Given the description of an element on the screen output the (x, y) to click on. 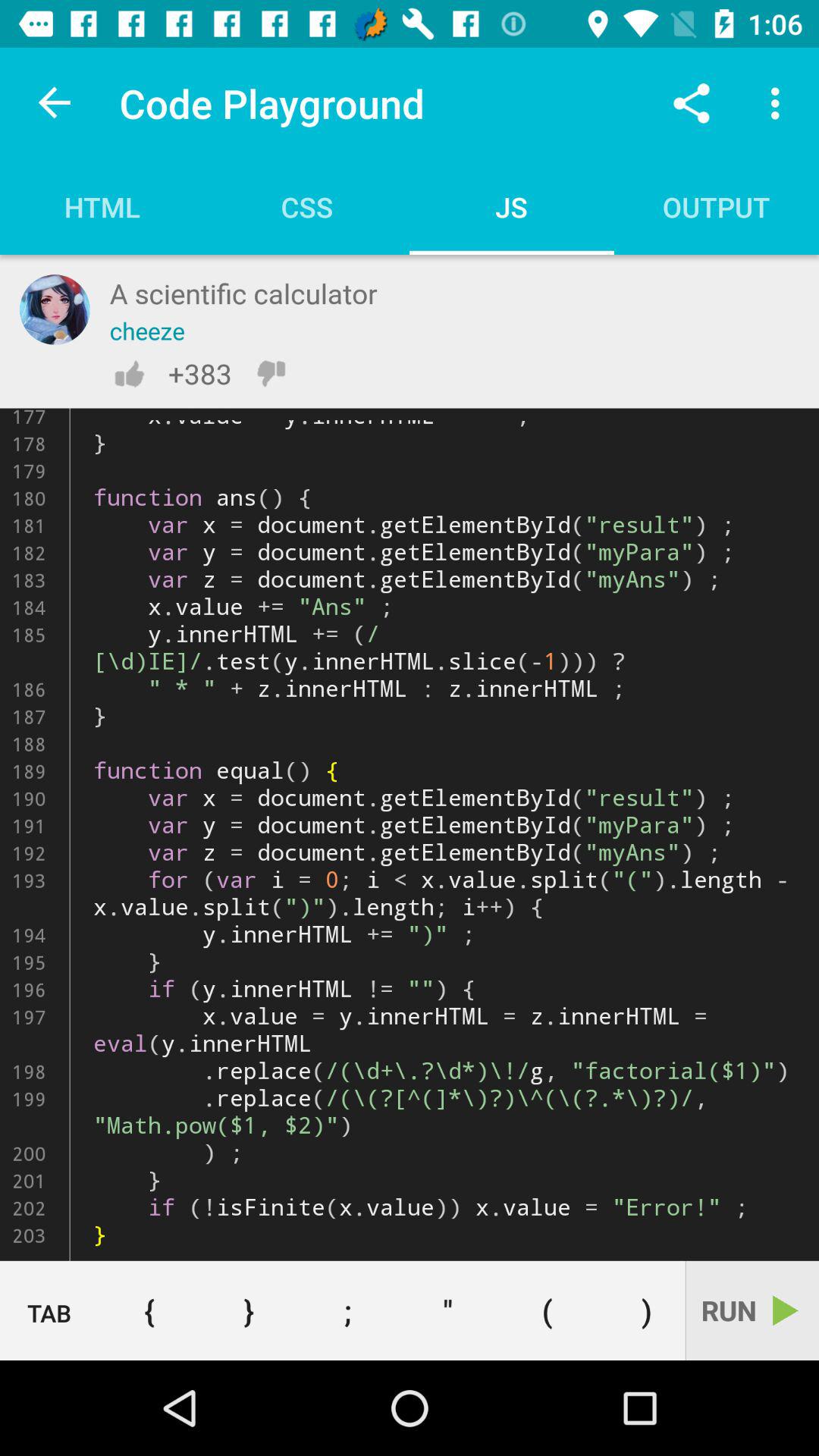
view the user 's profile (54, 309)
